Given the description of an element on the screen output the (x, y) to click on. 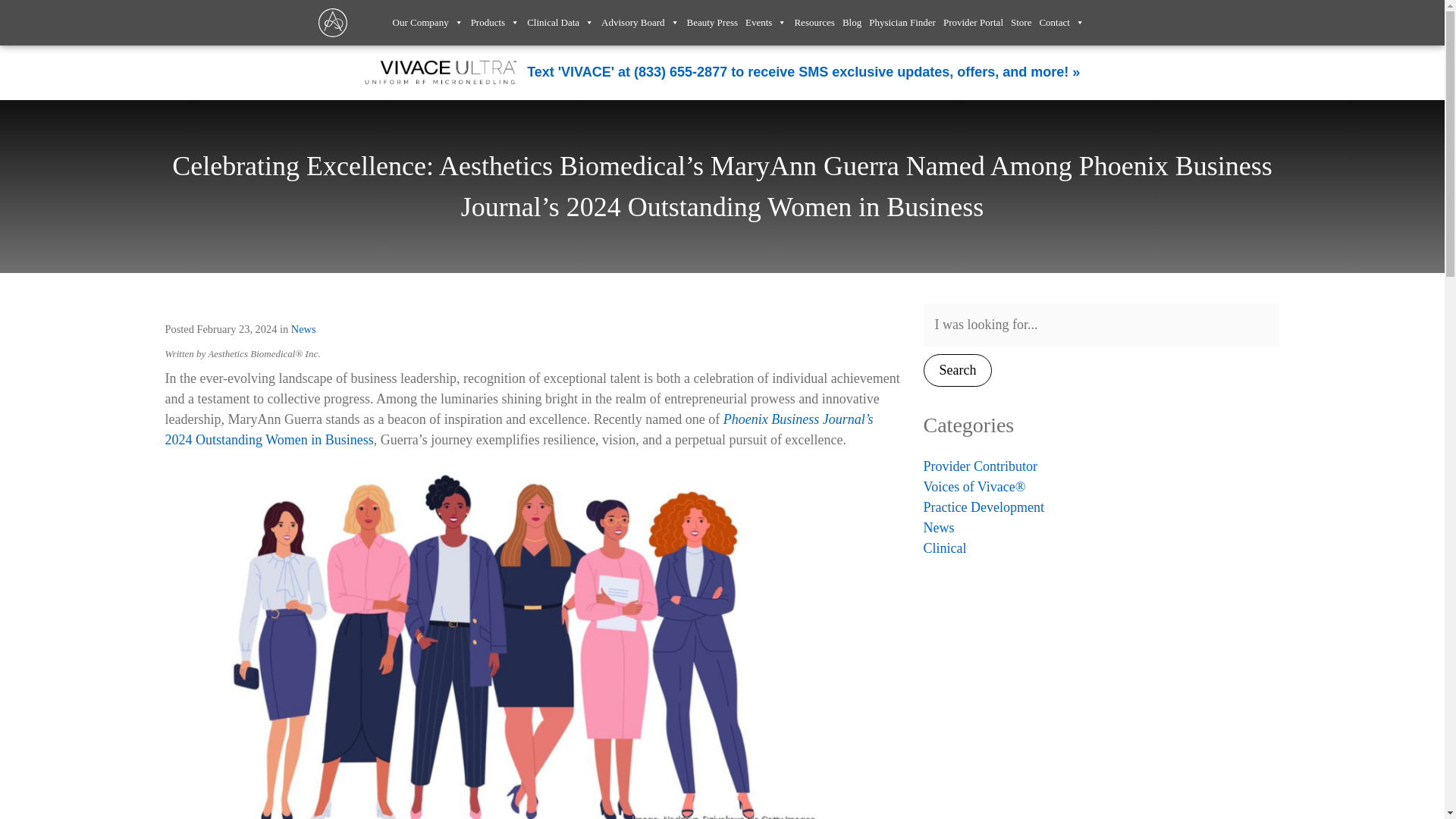
Provider Portal (973, 15)
Events (765, 15)
Clinical Data (559, 15)
News (303, 328)
Store (1021, 15)
Advisory Board (639, 15)
Resources (814, 15)
Our Company (427, 15)
Physician Finder (901, 15)
Contact (1061, 15)
